Given the description of an element on the screen output the (x, y) to click on. 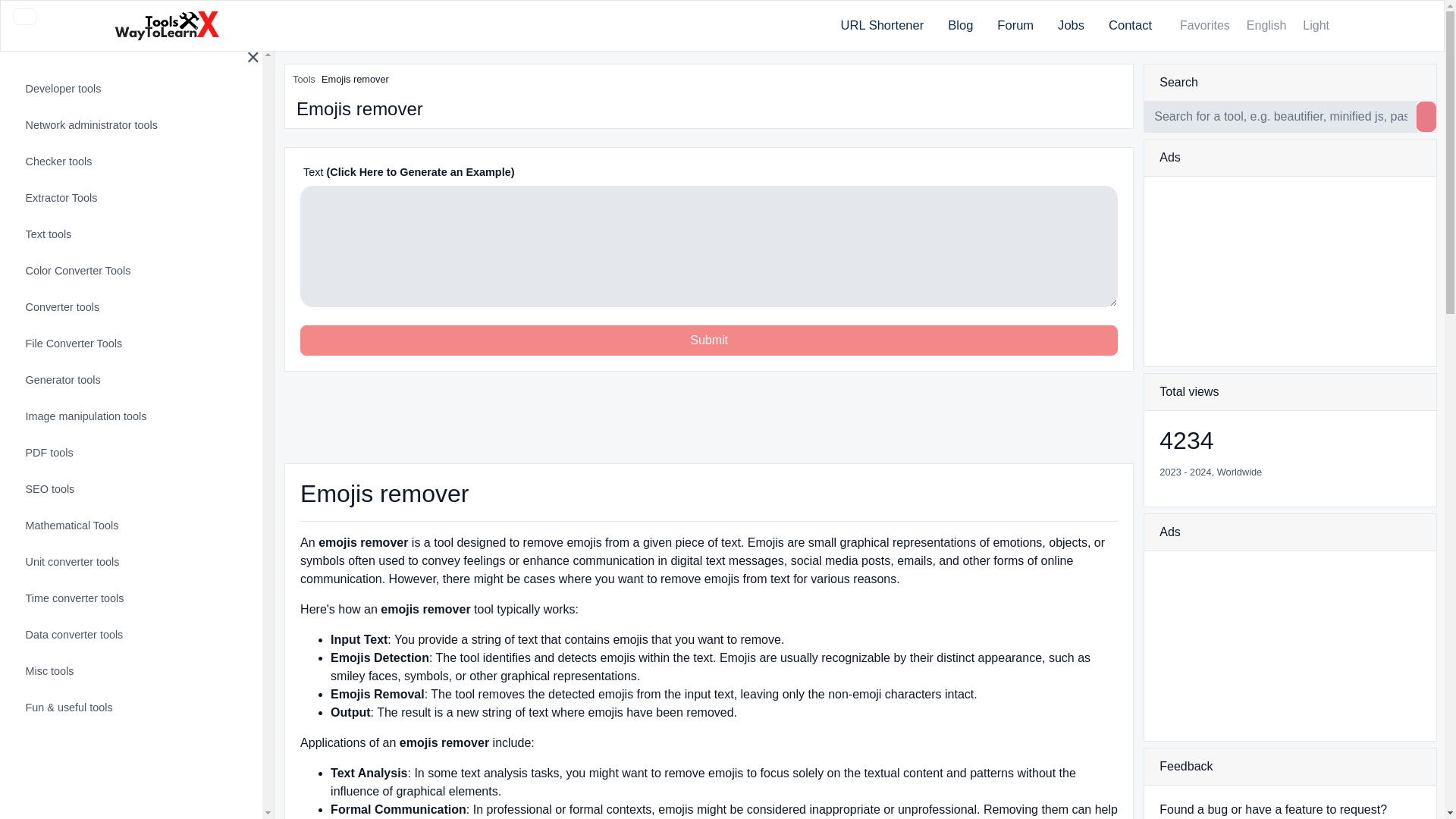
Forum (1015, 26)
Jobs (1070, 26)
Favorites (1203, 25)
Blog (960, 26)
Contact (1129, 26)
Light (1314, 25)
Favorites list (1203, 24)
Network administrator tools (129, 125)
English (1265, 25)
Choose Language (1265, 25)
Developer tools (129, 89)
Switch to Dark Mode (1314, 25)
URL Shortener (882, 26)
